Given the description of an element on the screen output the (x, y) to click on. 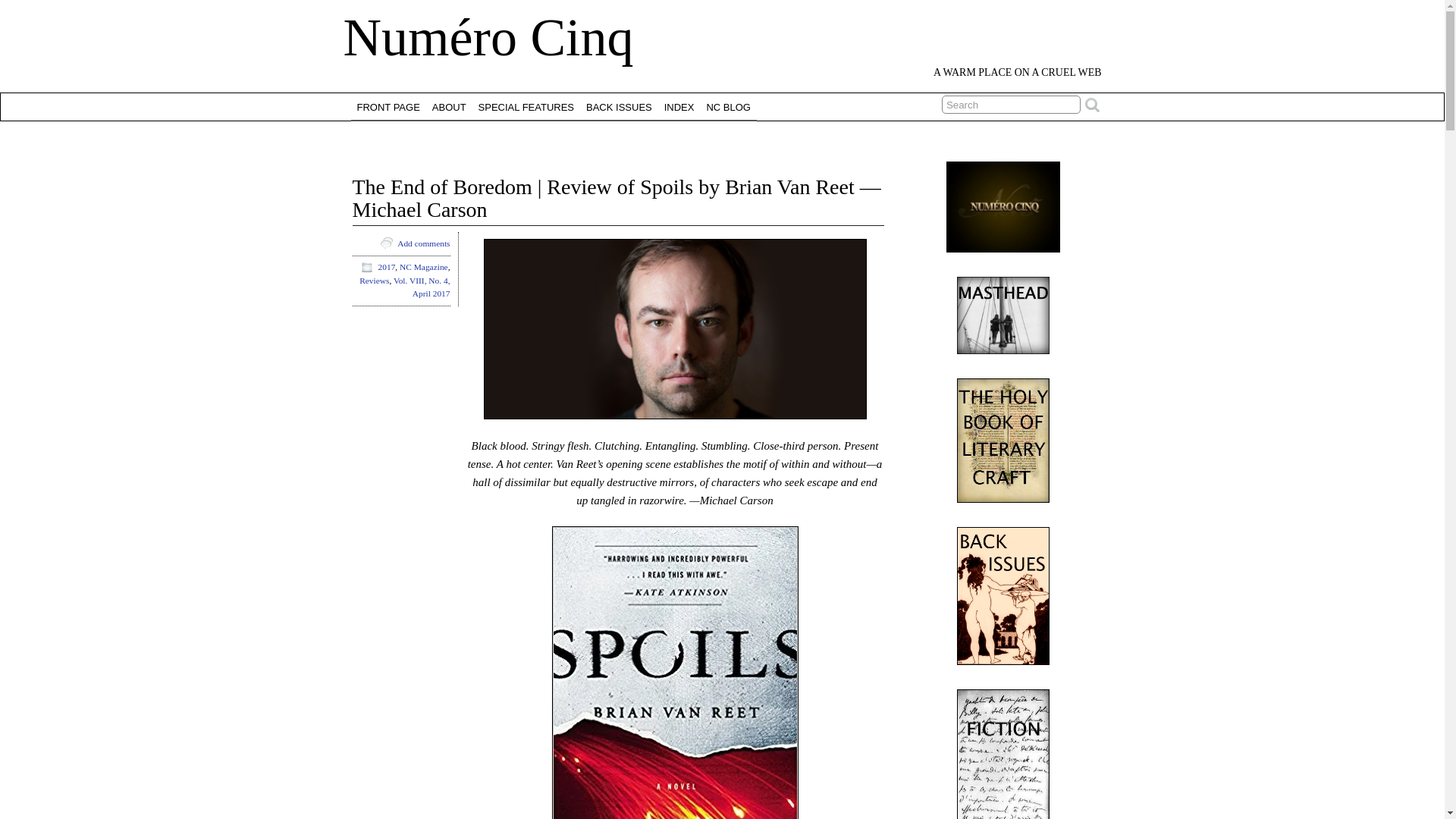
ABOUT (448, 106)
Search (1011, 104)
SPECIAL FEATURES (525, 106)
BACK ISSUES (618, 106)
Search (1011, 104)
NC BLOG (728, 106)
INDEX (679, 106)
FRONT PAGE (387, 106)
